Given the description of an element on the screen output the (x, y) to click on. 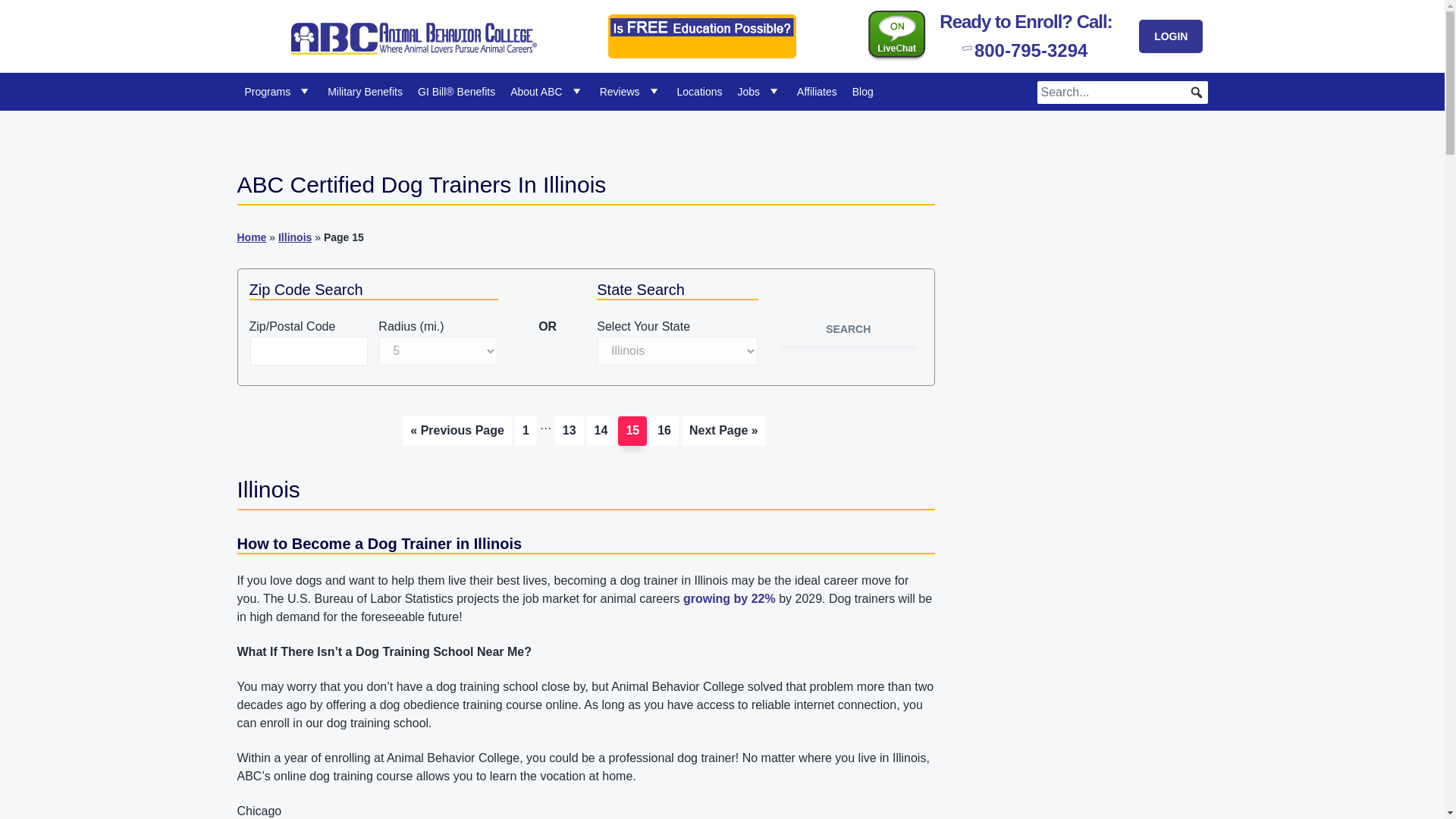
Animal Behavior College Locations (699, 91)
Programs (277, 91)
LOGIN (1170, 36)
Affiliates (816, 91)
Animal Behavior College (366, 60)
800-795-3294 (1025, 48)
